Given the description of an element on the screen output the (x, y) to click on. 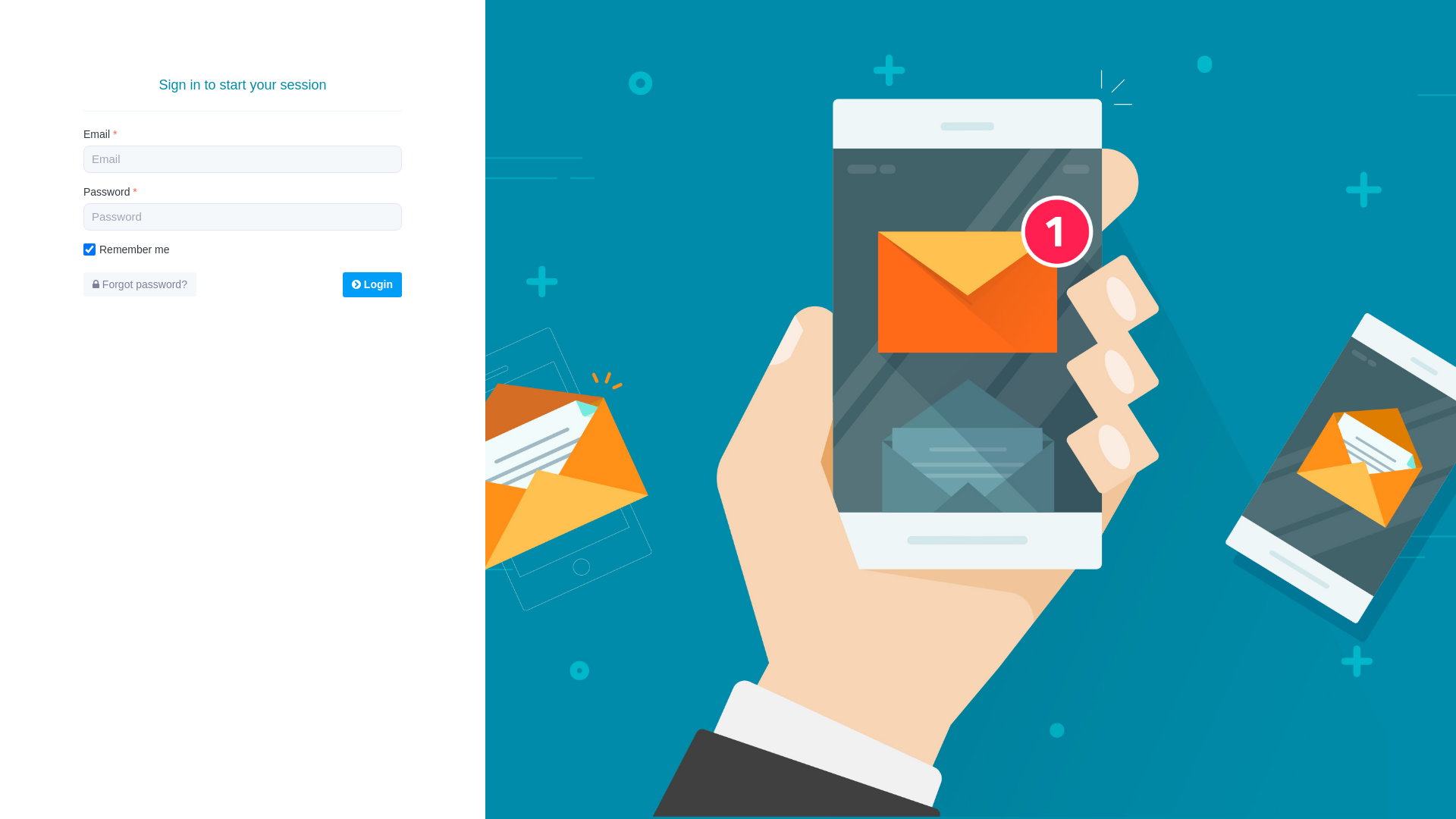
 Login Element type: text (371, 284)
 Forgot password? Element type: text (139, 284)
